Given the description of an element on the screen output the (x, y) to click on. 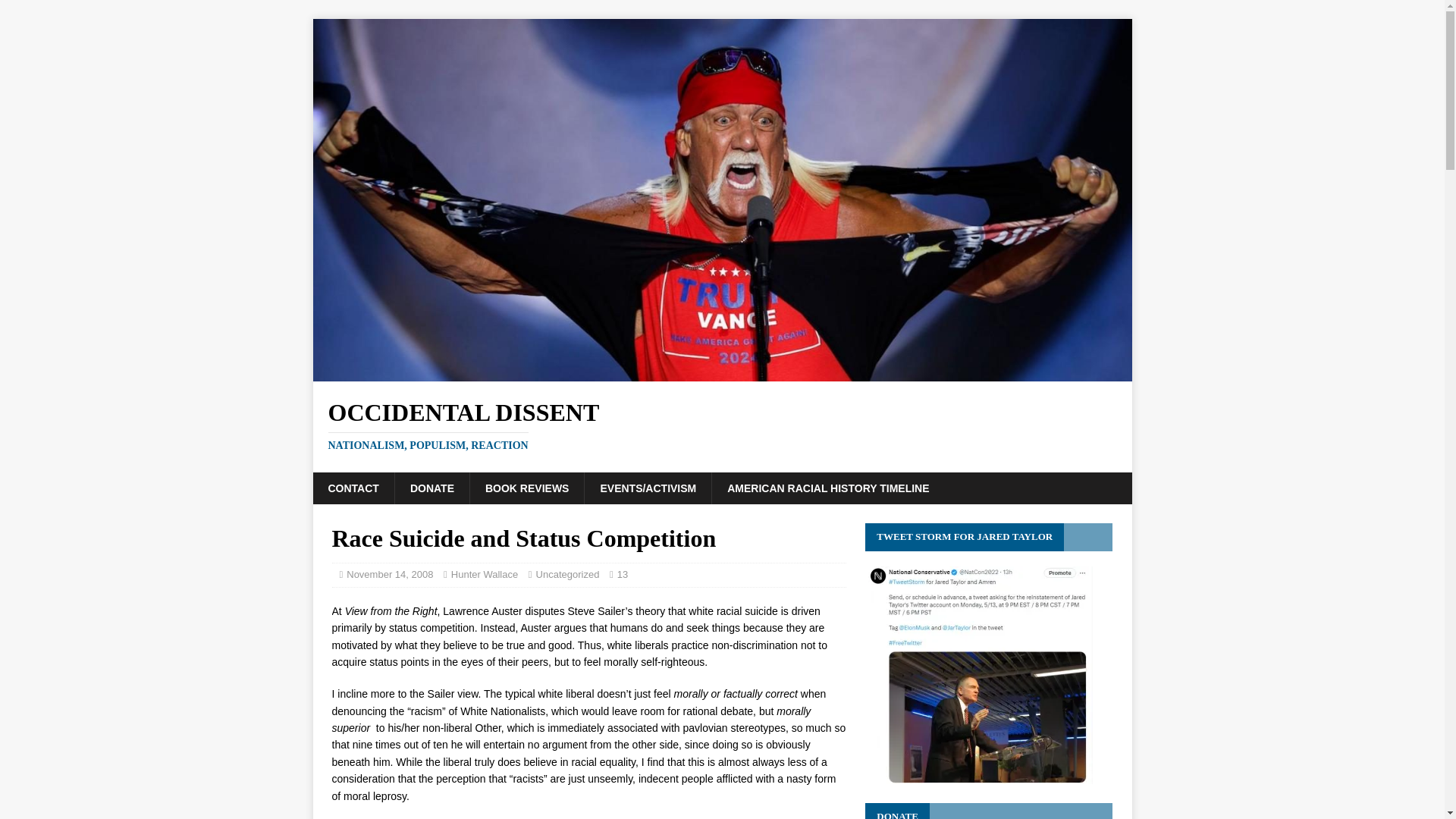
Occidental Dissent (722, 372)
AMERICAN RACIAL HISTORY TIMELINE (827, 488)
CONTACT (353, 488)
13 (622, 573)
November 14, 2008 (721, 425)
BOOK REVIEWS (389, 573)
Occidental Dissent (525, 488)
13 (721, 425)
Uncategorized (622, 573)
DONATE (567, 573)
Hunter Wallace (431, 488)
